Given the description of an element on the screen output the (x, y) to click on. 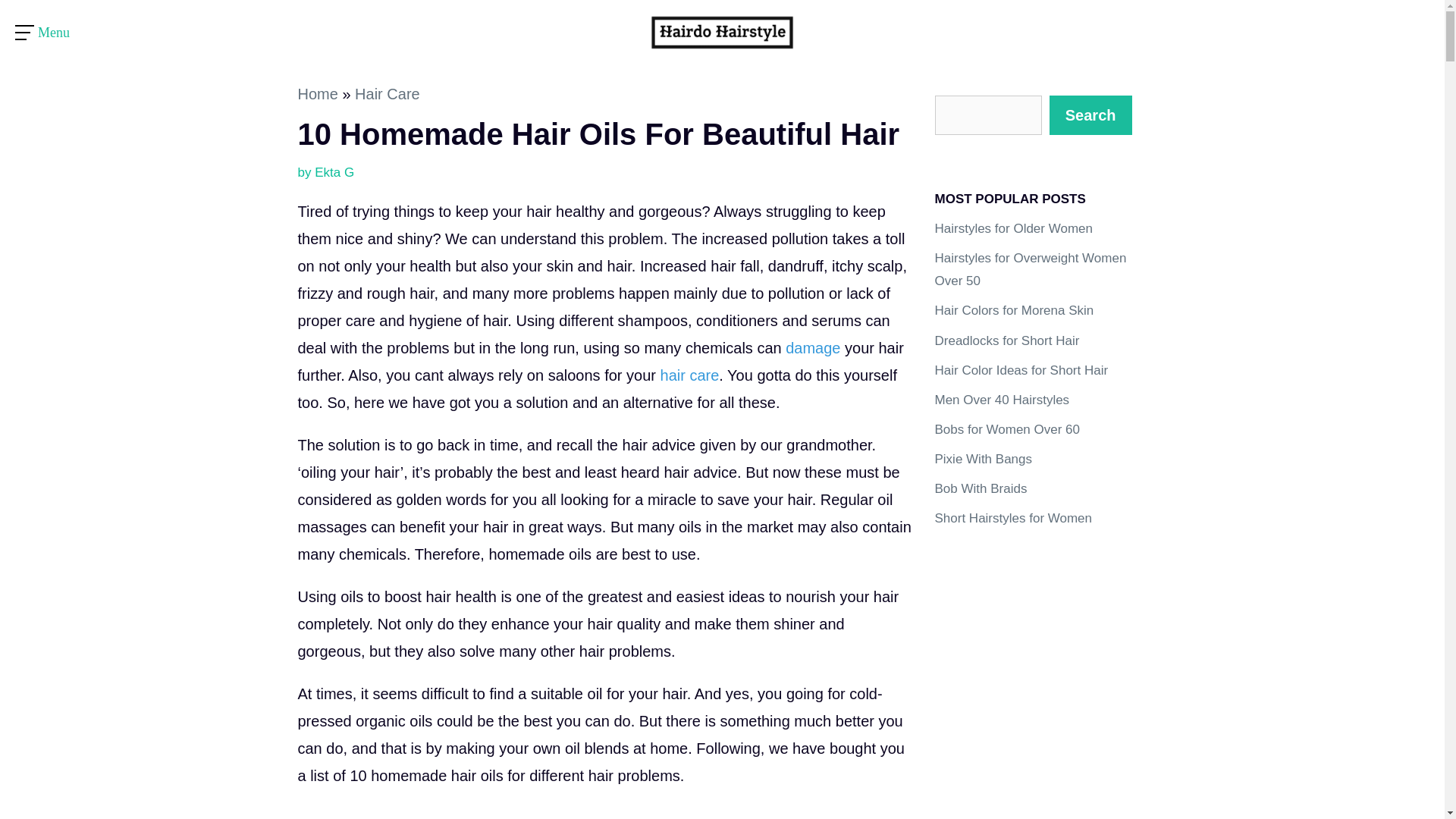
Hairstyles for Older Women (1013, 228)
Search (1090, 115)
hair care (690, 375)
Hair Care (387, 93)
Dreadlocks for Short Hair (1006, 340)
View all posts by Ekta G (333, 172)
Hair Color Ideas for Short Hair (1021, 370)
Pixie With Bangs (983, 459)
damage (813, 347)
Bob With Braids (980, 488)
